Given the description of an element on the screen output the (x, y) to click on. 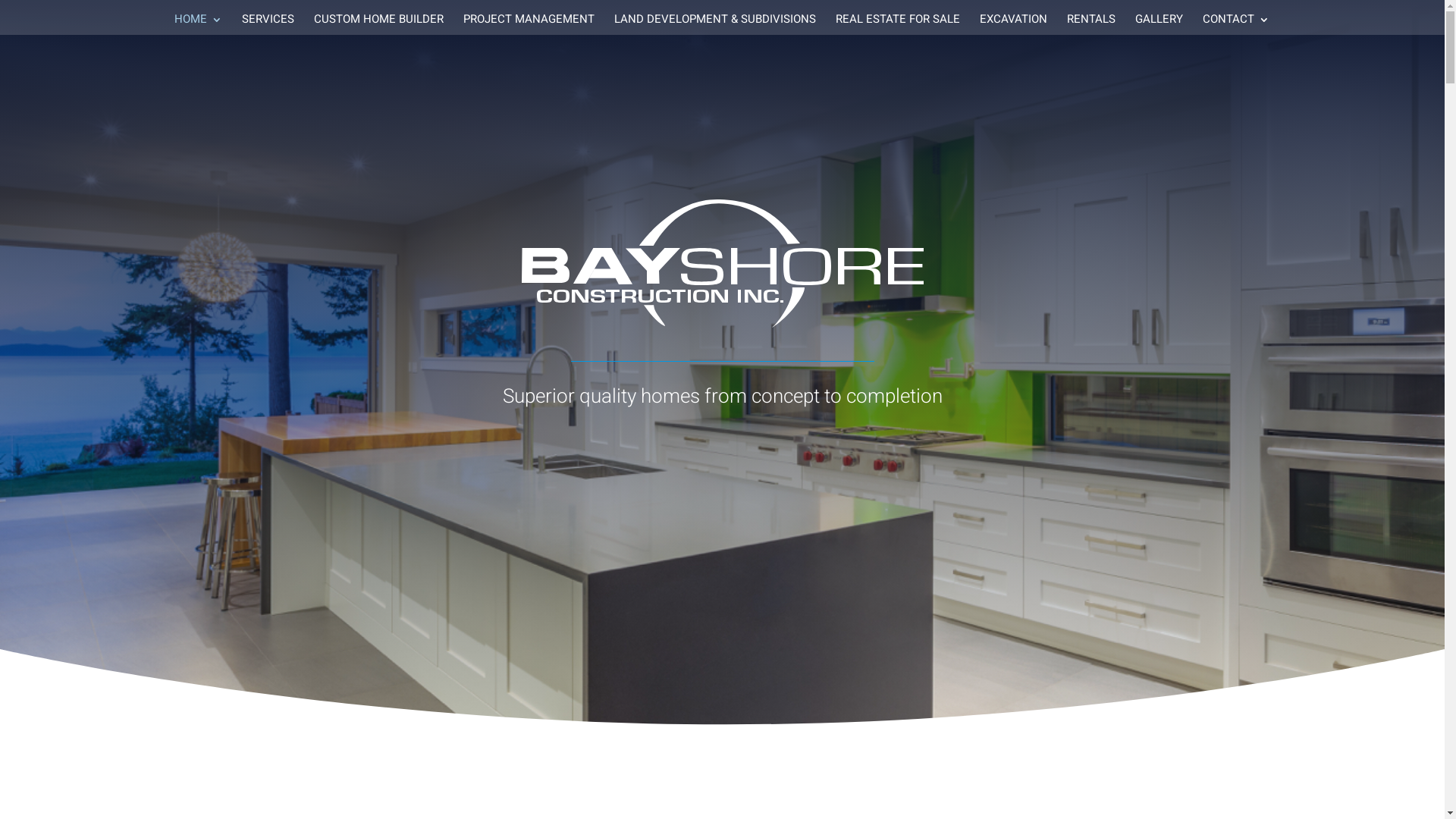
SERVICES Element type: text (267, 23)
EXCAVATION Element type: text (1013, 23)
HOME Element type: text (198, 23)
LAND DEVELOPMENT & SUBDIVISIONS Element type: text (714, 23)
CUSTOM HOME BUILDER Element type: text (378, 23)
PROJECT MANAGEMENT Element type: text (527, 23)
RENTALS Element type: text (1090, 23)
REAL ESTATE FOR SALE Element type: text (897, 23)
baylogo Element type: hover (721, 263)
CONTACT Element type: text (1235, 23)
GALLERY Element type: text (1158, 23)
